Given the description of an element on the screen output the (x, y) to click on. 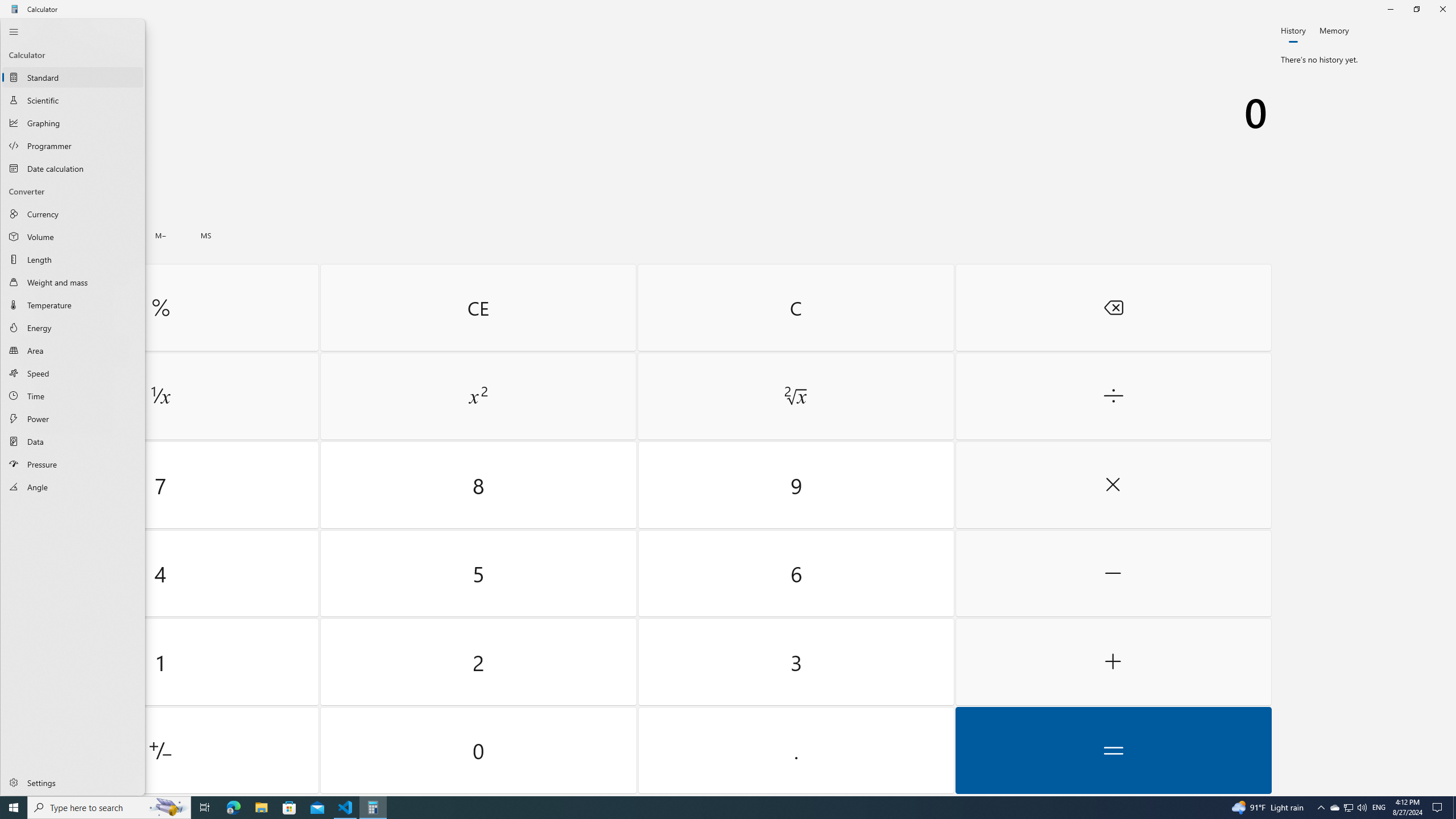
Close Navigation (13, 31)
Restore Calculator (1416, 9)
Minimize Calculator (1390, 9)
Scientific Calculator (72, 100)
Volume Converter (72, 236)
Graphing Calculator (72, 122)
Multiply by (1113, 485)
Currency Converter (72, 213)
Memory subtract (160, 235)
One (160, 661)
Pressure Converter (72, 463)
Memory add (115, 235)
